Given the description of an element on the screen output the (x, y) to click on. 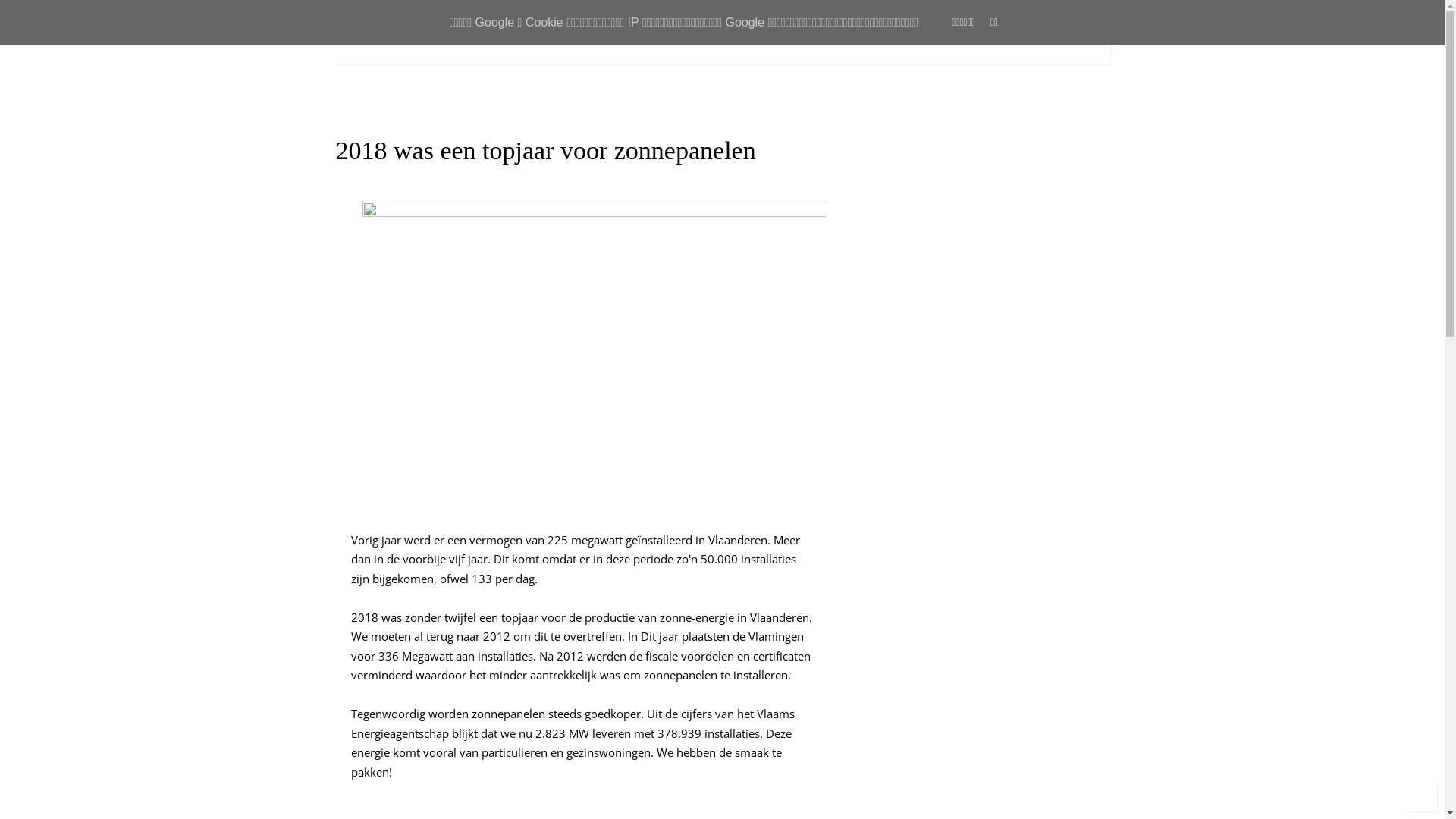
Lees hier onze Privacy & Cookies regels Element type: text (957, 330)
Inschrijven Element type: text (906, 295)
